Given the description of an element on the screen output the (x, y) to click on. 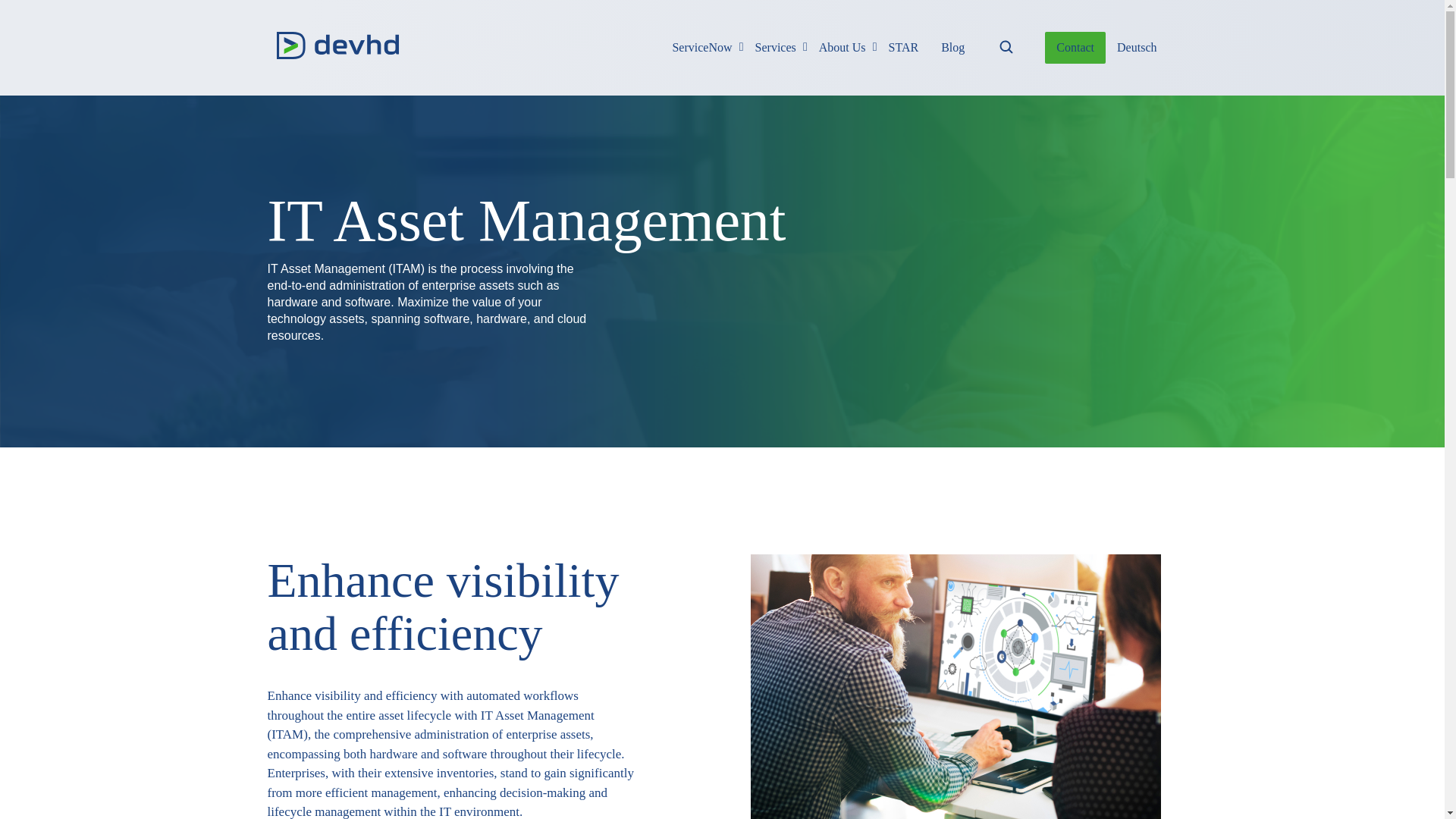
Services (914, 47)
About Us (776, 47)
Deutsch (842, 47)
Contact (1136, 47)
STAR (1075, 47)
ServiceNow (903, 47)
creative-monitor-tech-digitally-generated-desk 2 (701, 47)
Blog (955, 686)
